Given the description of an element on the screen output the (x, y) to click on. 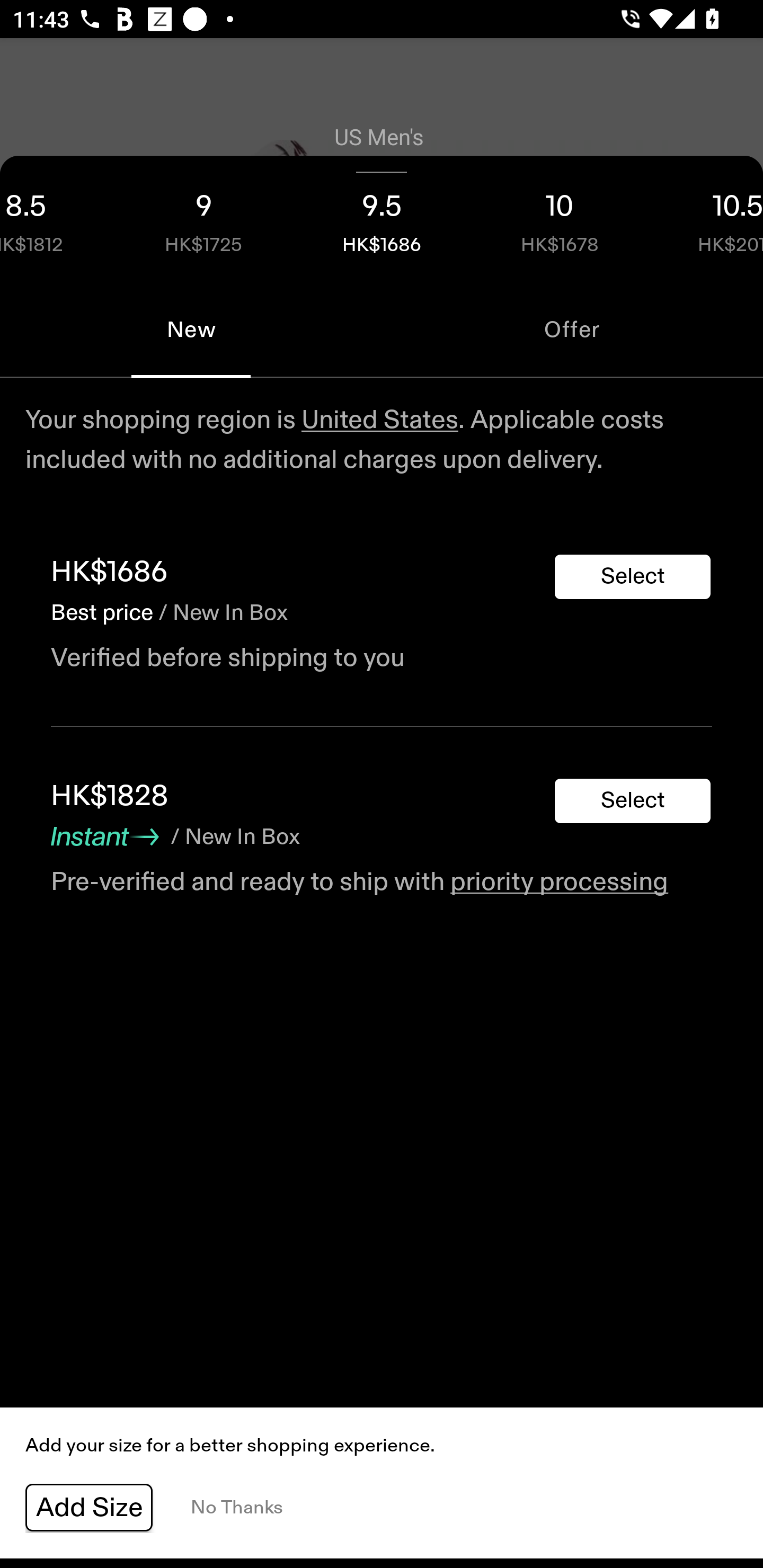
8.5 HK$1812 (57, 218)
9 HK$1725 (203, 218)
9.5 HK$1686 (381, 218)
10 HK$1678 (559, 218)
10.5 HK$2010 (705, 218)
Offer (572, 329)
Select (632, 576)
HK$1828 (109, 796)
Select (632, 800)
No Thanks (236, 1507)
Add Size (88, 1507)
